Given the description of an element on the screen output the (x, y) to click on. 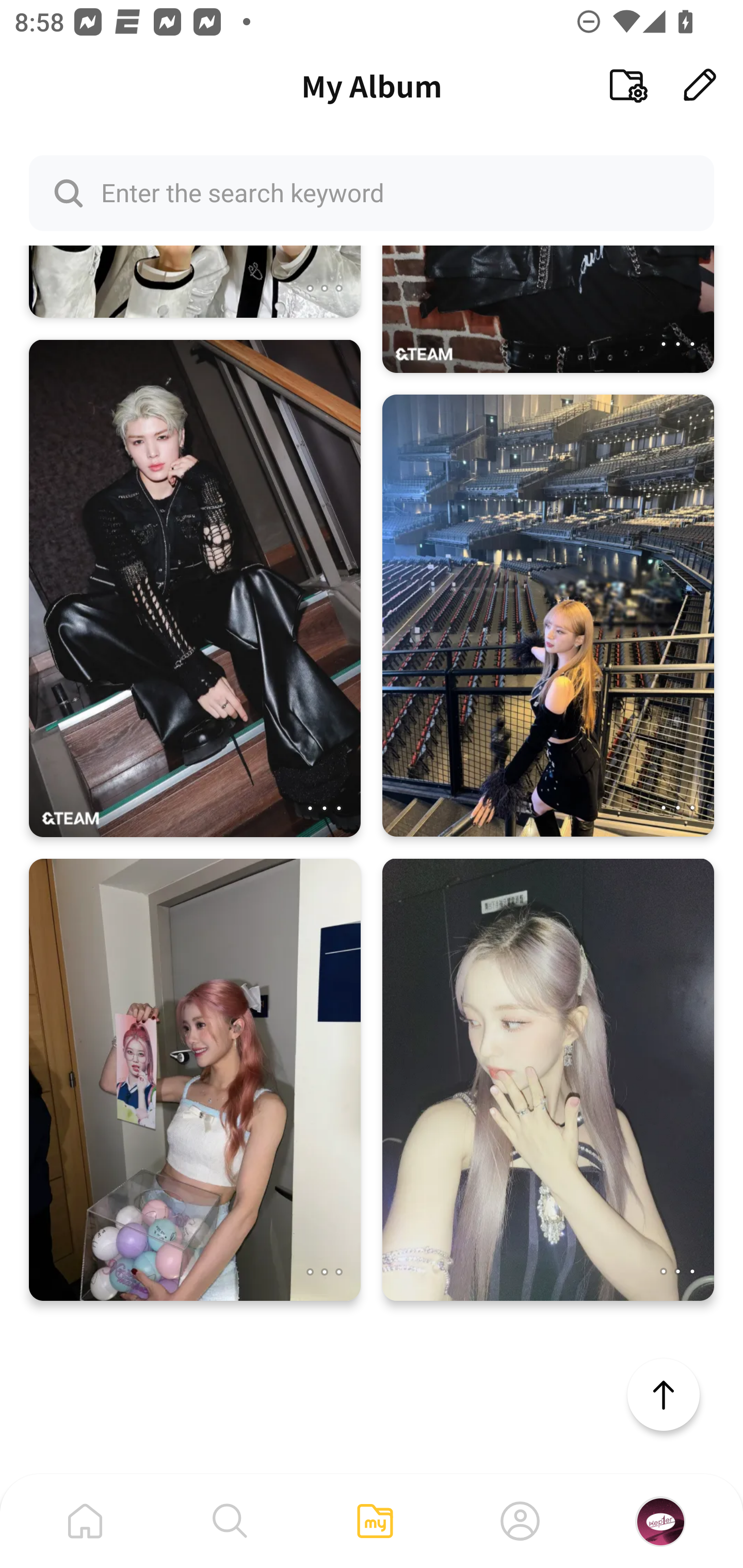
Enter the search keyword (371, 192)
